Given the description of an element on the screen output the (x, y) to click on. 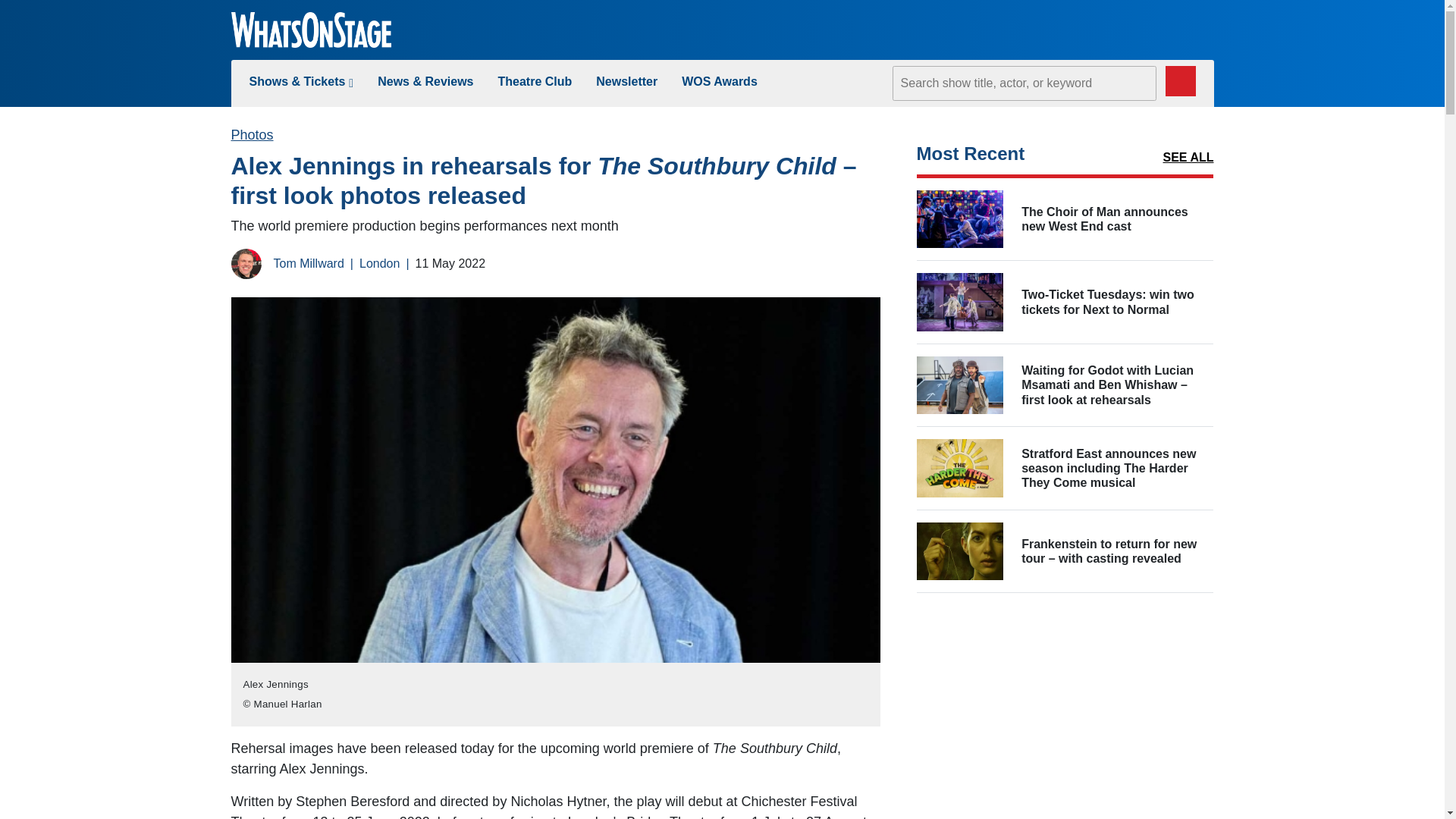
WOS Awards (719, 81)
new-and-reviews-link (425, 81)
Newsletter (626, 81)
Theatre Club (534, 81)
